Given the description of an element on the screen output the (x, y) to click on. 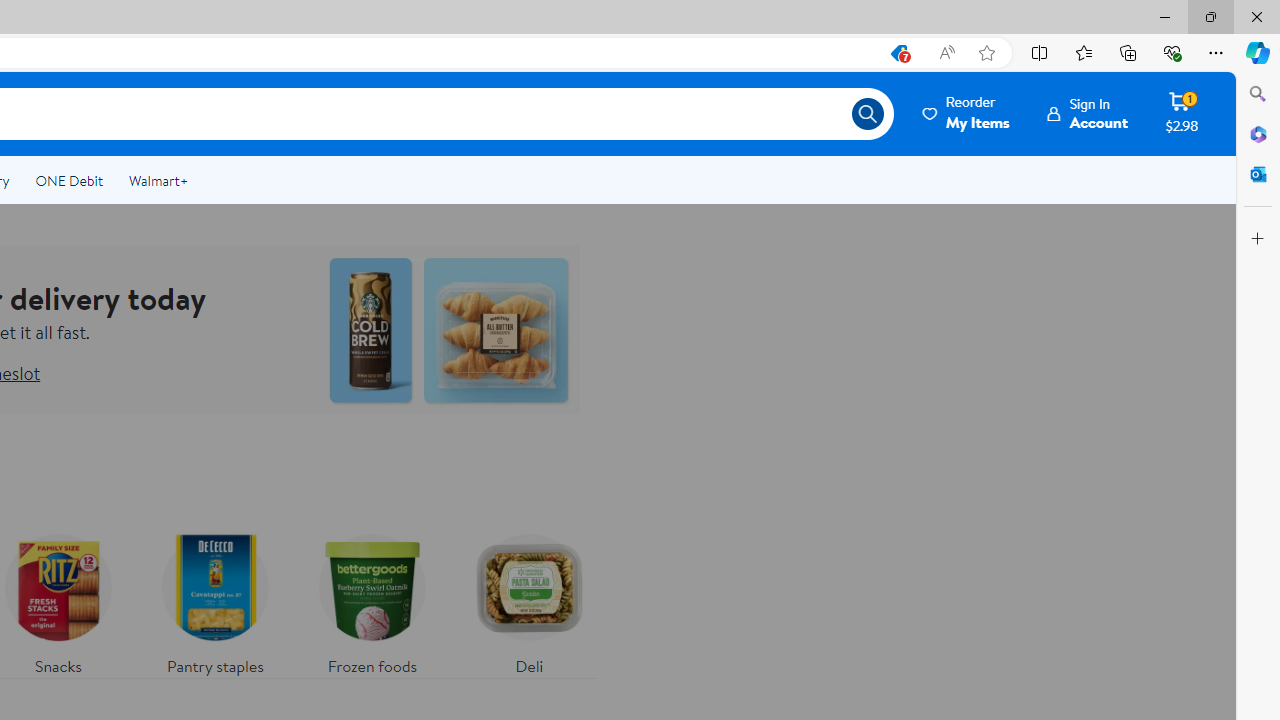
Deli (529, 599)
Sign In Account (1088, 113)
Frozen foods (371, 599)
Reorder My Items (967, 113)
This site has coupons! Shopping in Microsoft Edge, 7 (898, 53)
Walmart+ (158, 180)
Pantry staples (214, 599)
Frozen foods (371, 599)
